Given the description of an element on the screen output the (x, y) to click on. 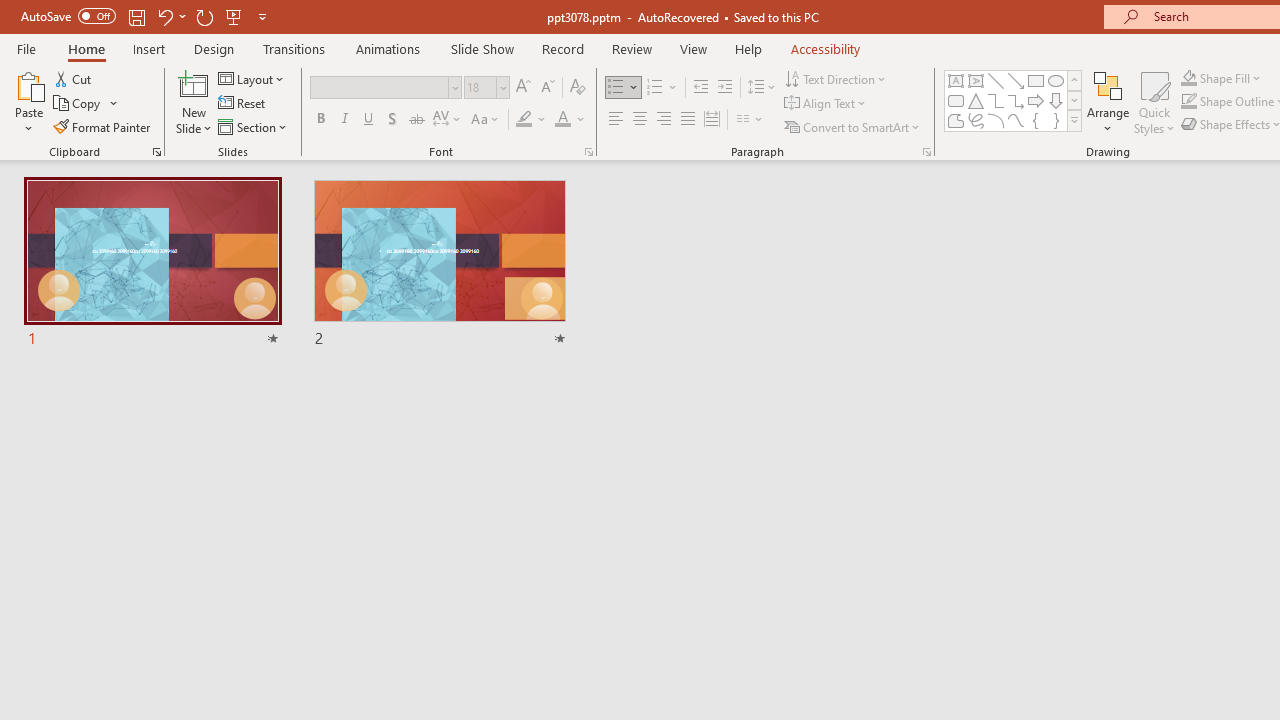
Arrow: Down (1055, 100)
Open (502, 87)
Arrow: Right (1035, 100)
Font Color Red (562, 119)
Center (639, 119)
Paragraph... (926, 151)
Text Box (955, 80)
